Given the description of an element on the screen output the (x, y) to click on. 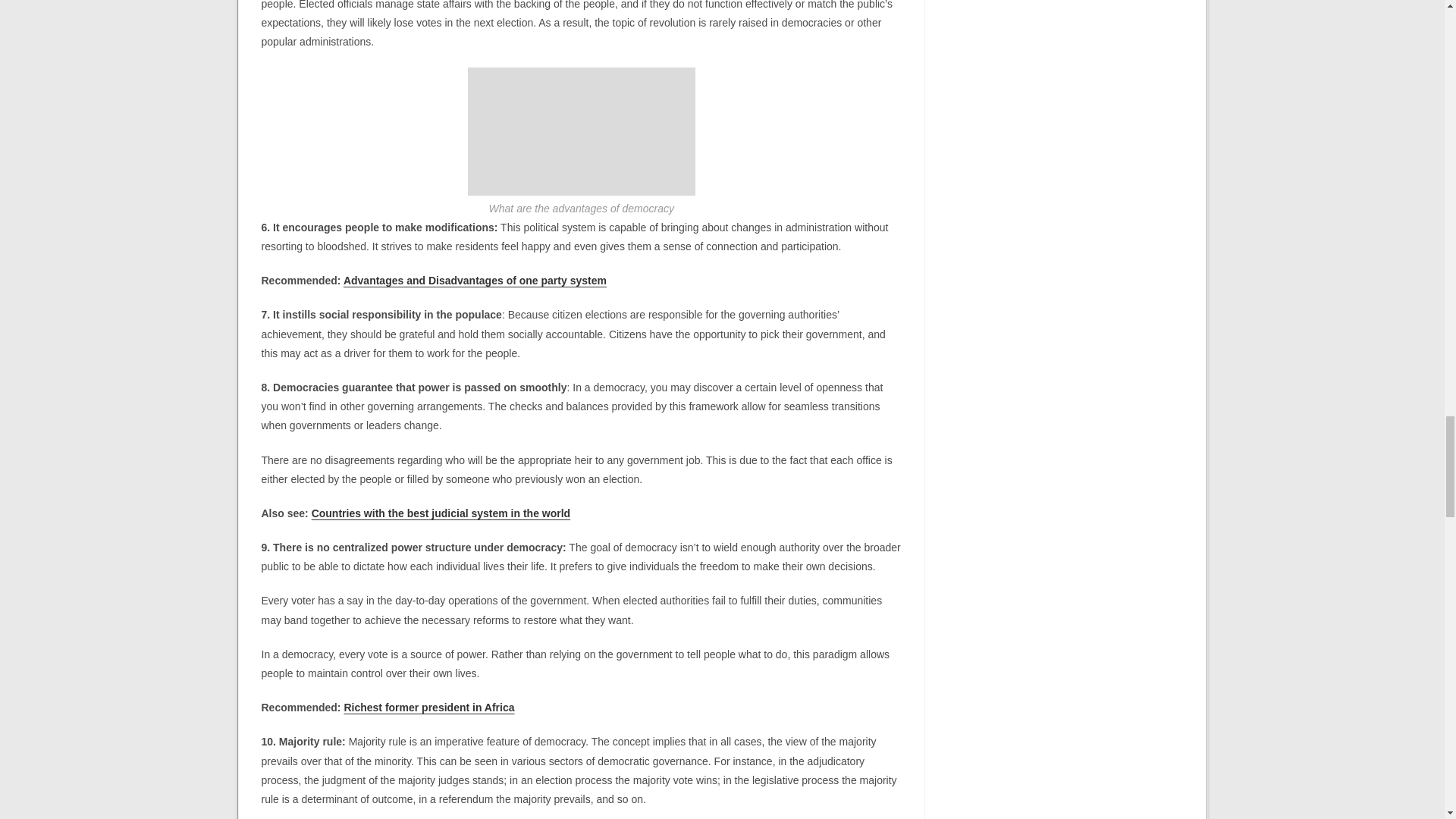
Countries with the best judicial system in the world (440, 512)
Advantages and Disadvantages of one party system (475, 280)
Richest former president in Africa (428, 707)
